Given the description of an element on the screen output the (x, y) to click on. 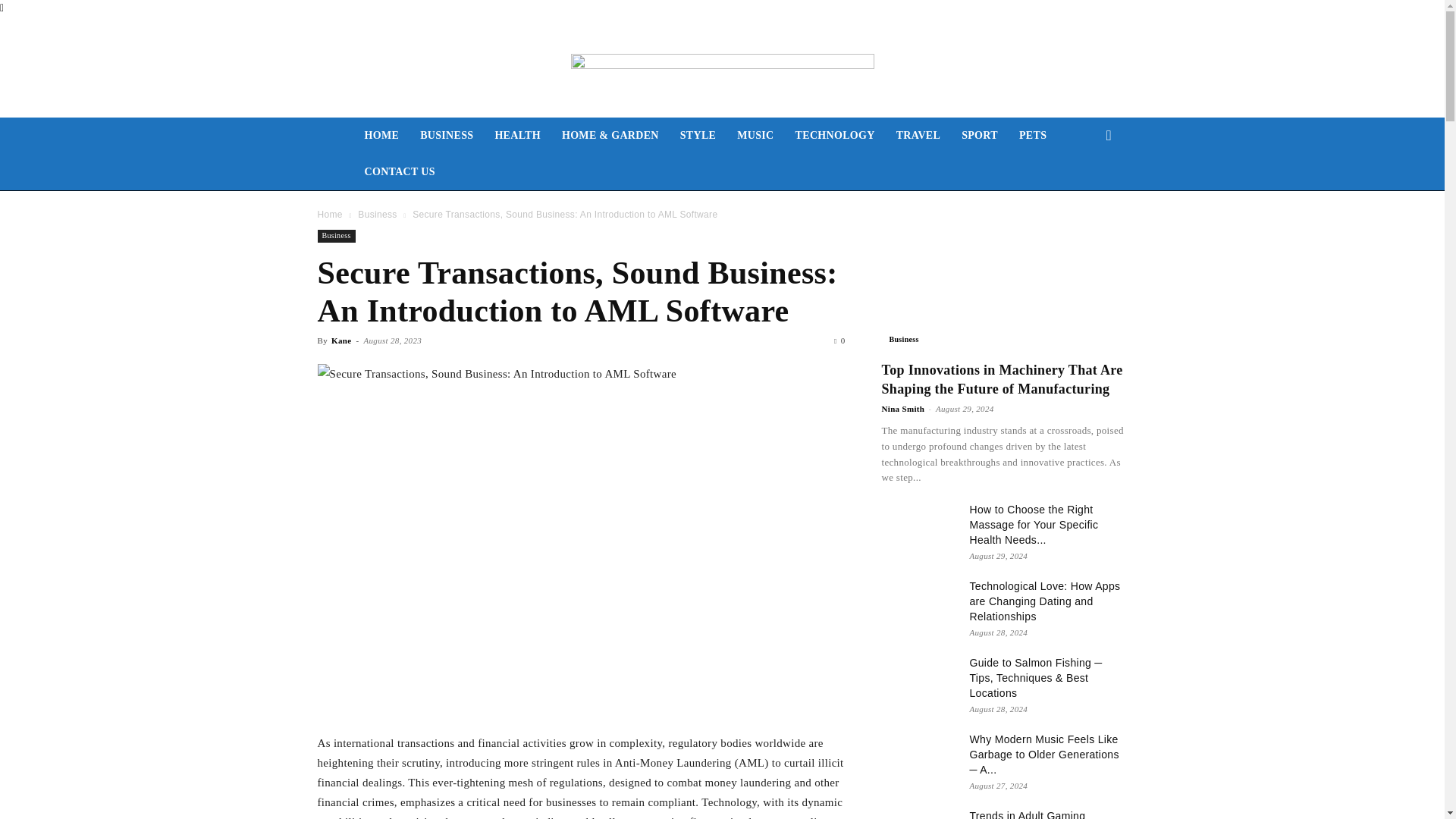
TECHNOLOGY (834, 135)
TRAVEL (917, 135)
Business (377, 214)
SPORT (979, 135)
CONTACT US (399, 171)
Search (1085, 196)
MUSIC (755, 135)
STYLE (697, 135)
Kane (340, 339)
